Given the description of an element on the screen output the (x, y) to click on. 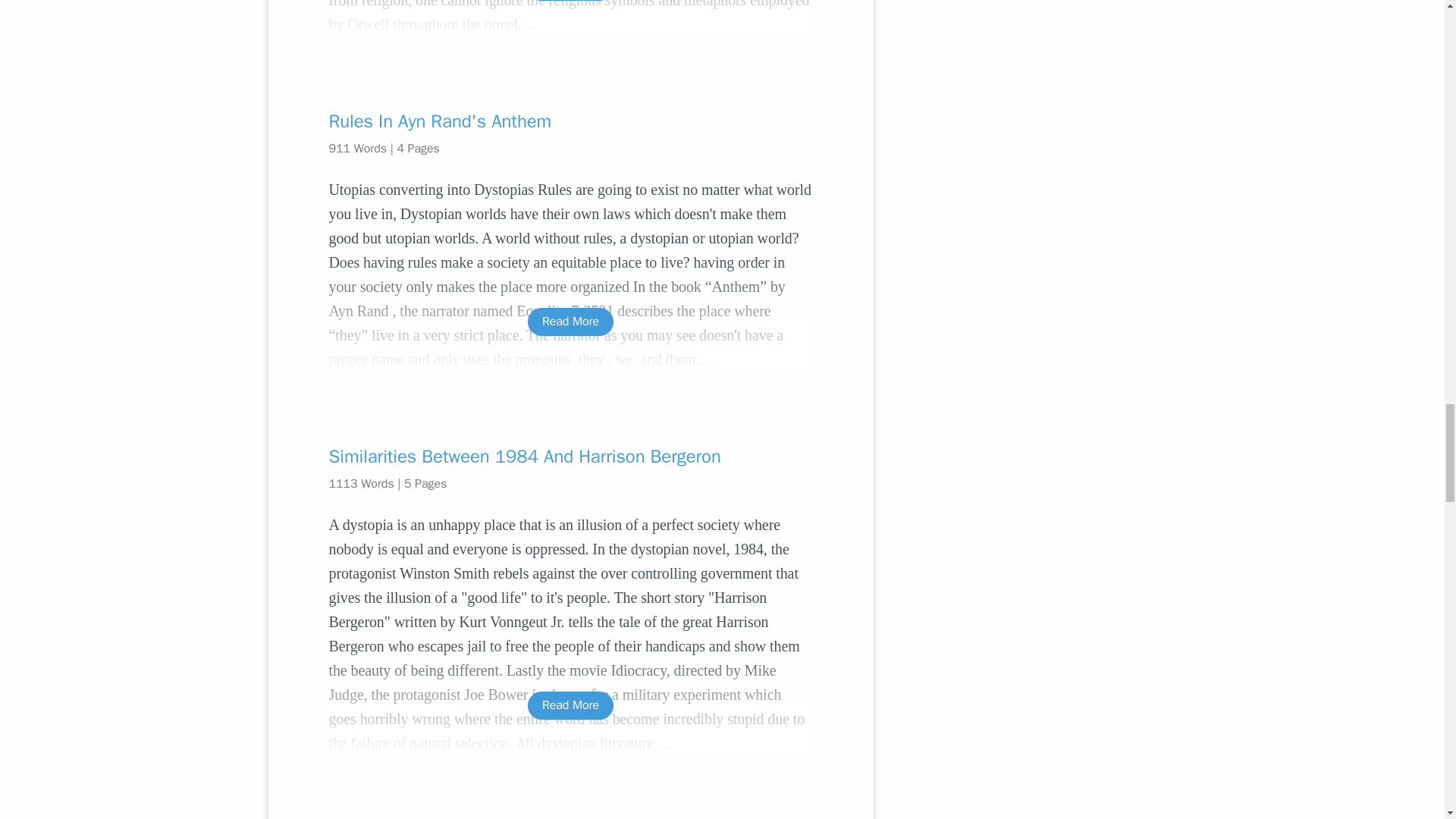
Similarities Between 1984 And Harrison Bergeron (570, 456)
Rules In Ayn Rand's Anthem (570, 120)
Read More (569, 705)
Read More (569, 321)
